Given the description of an element on the screen output the (x, y) to click on. 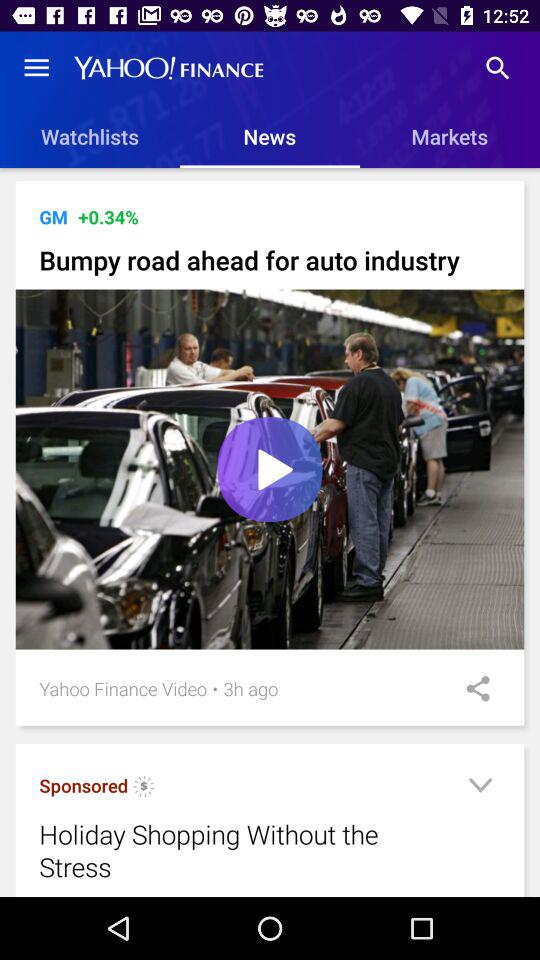
turn off the gm (53, 216)
